Given the description of an element on the screen output the (x, y) to click on. 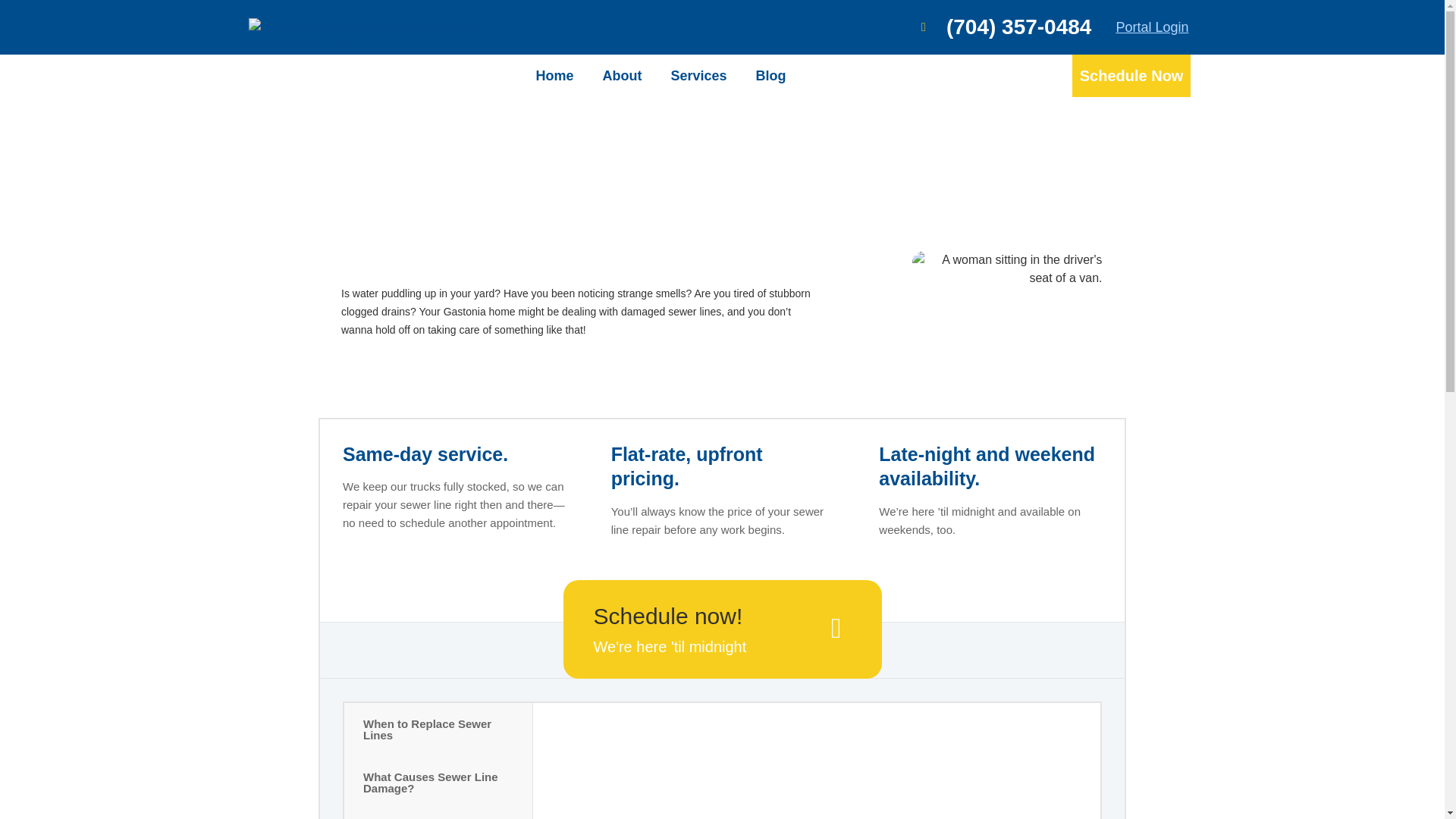
About (622, 75)
Home (554, 75)
Blog (770, 75)
Services (697, 75)
Schedule Now (1131, 75)
Portal Login (1151, 27)
